Given the description of an element on the screen output the (x, y) to click on. 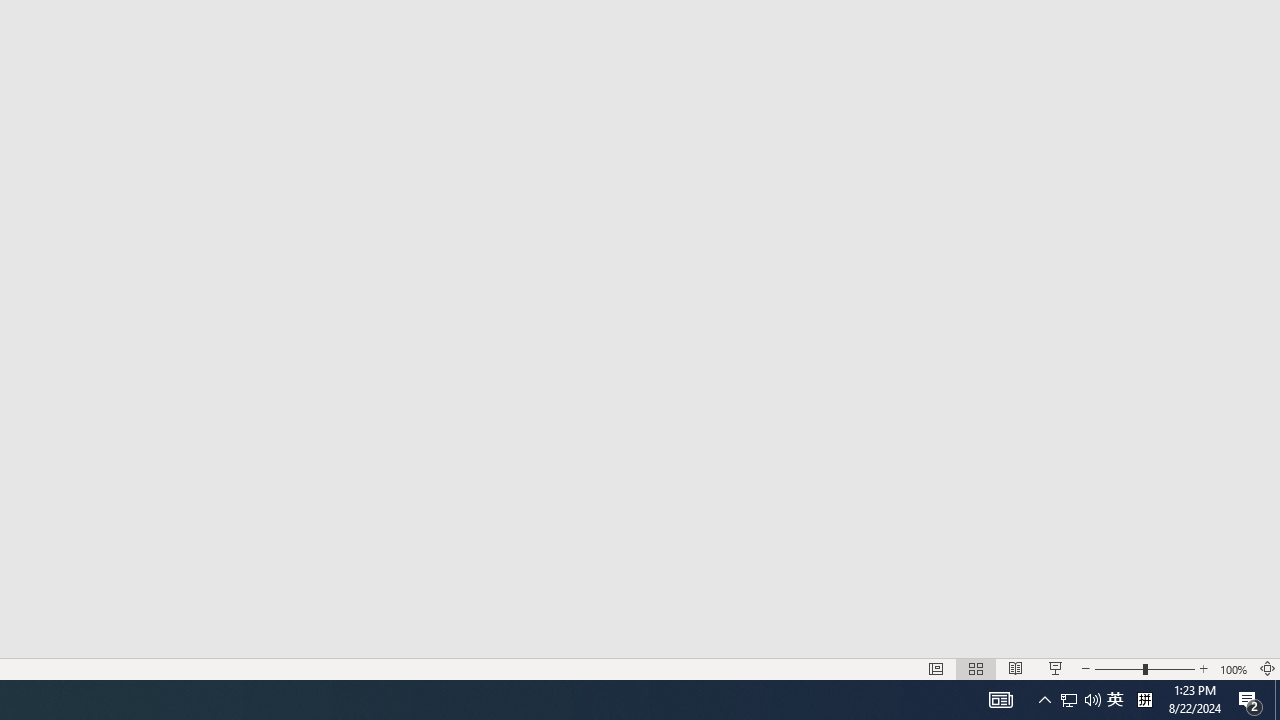
Zoom 100% (1234, 668)
